Given the description of an element on the screen output the (x, y) to click on. 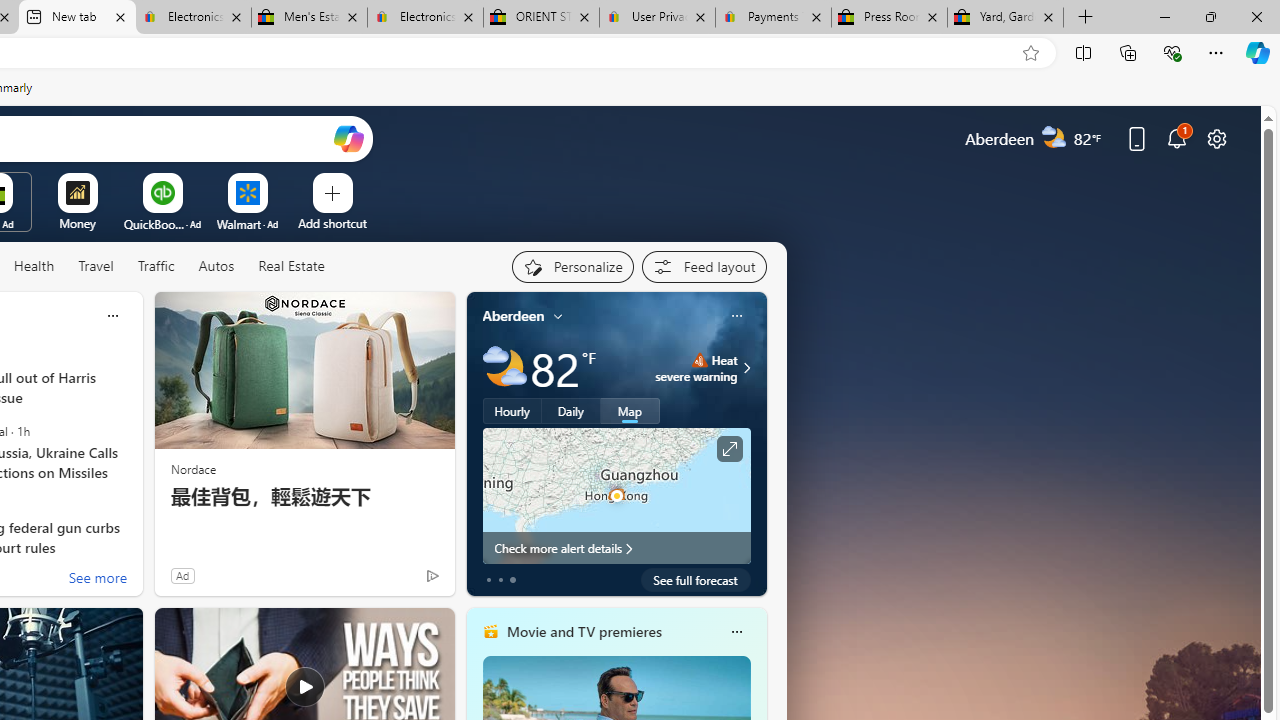
Movie and TV premieres (583, 631)
Ad Choice (432, 575)
More Options (279, 179)
Yard, Garden & Outdoor Living (1005, 17)
Heat - Severe (699, 359)
Traffic (155, 267)
Daily (571, 411)
tab-1 (500, 579)
Health (34, 265)
My location (558, 315)
